Given the description of an element on the screen output the (x, y) to click on. 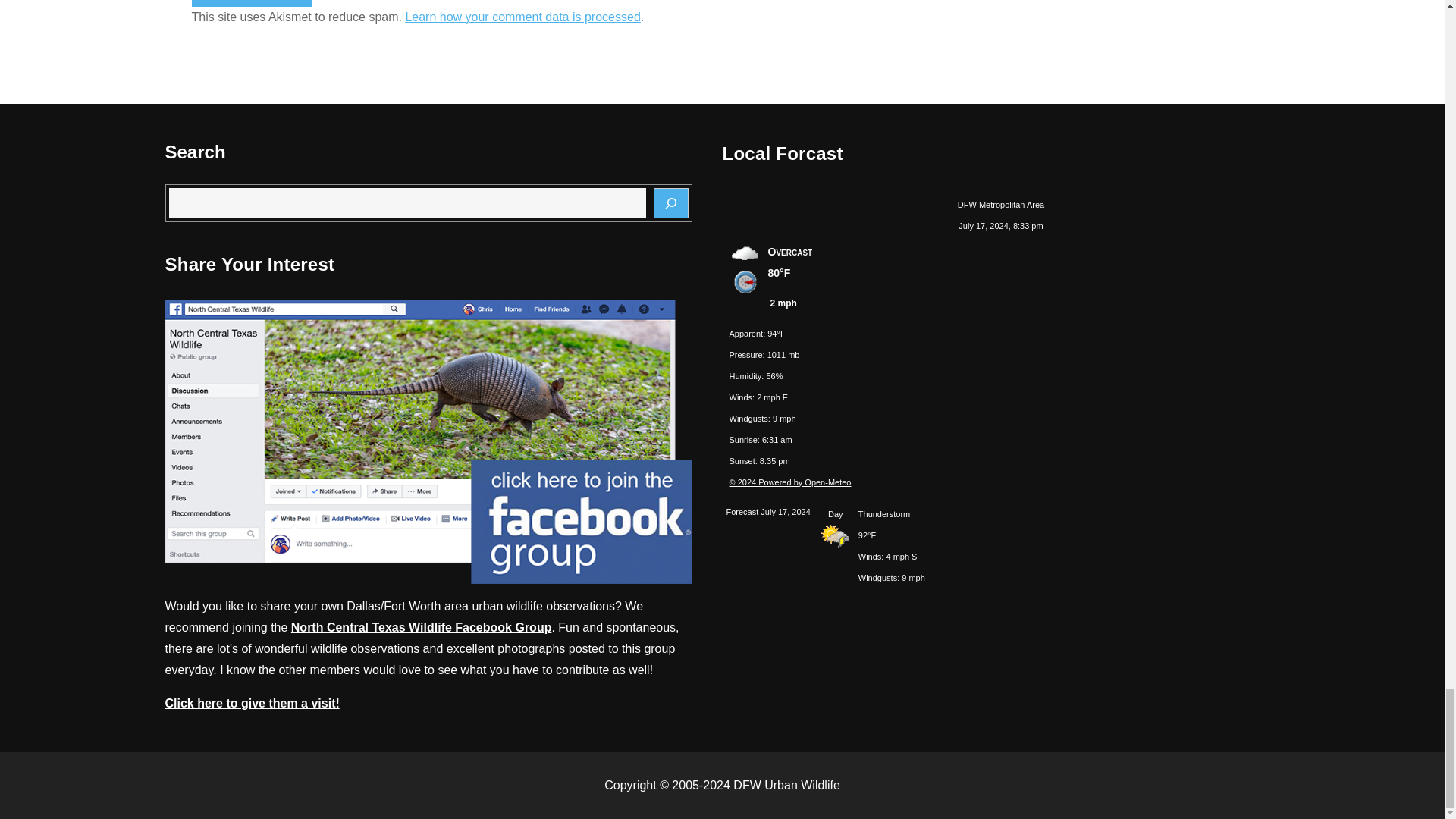
Learn how your comment data is processed (522, 16)
Post Comment (251, 3)
Post Comment (251, 3)
